Given the description of an element on the screen output the (x, y) to click on. 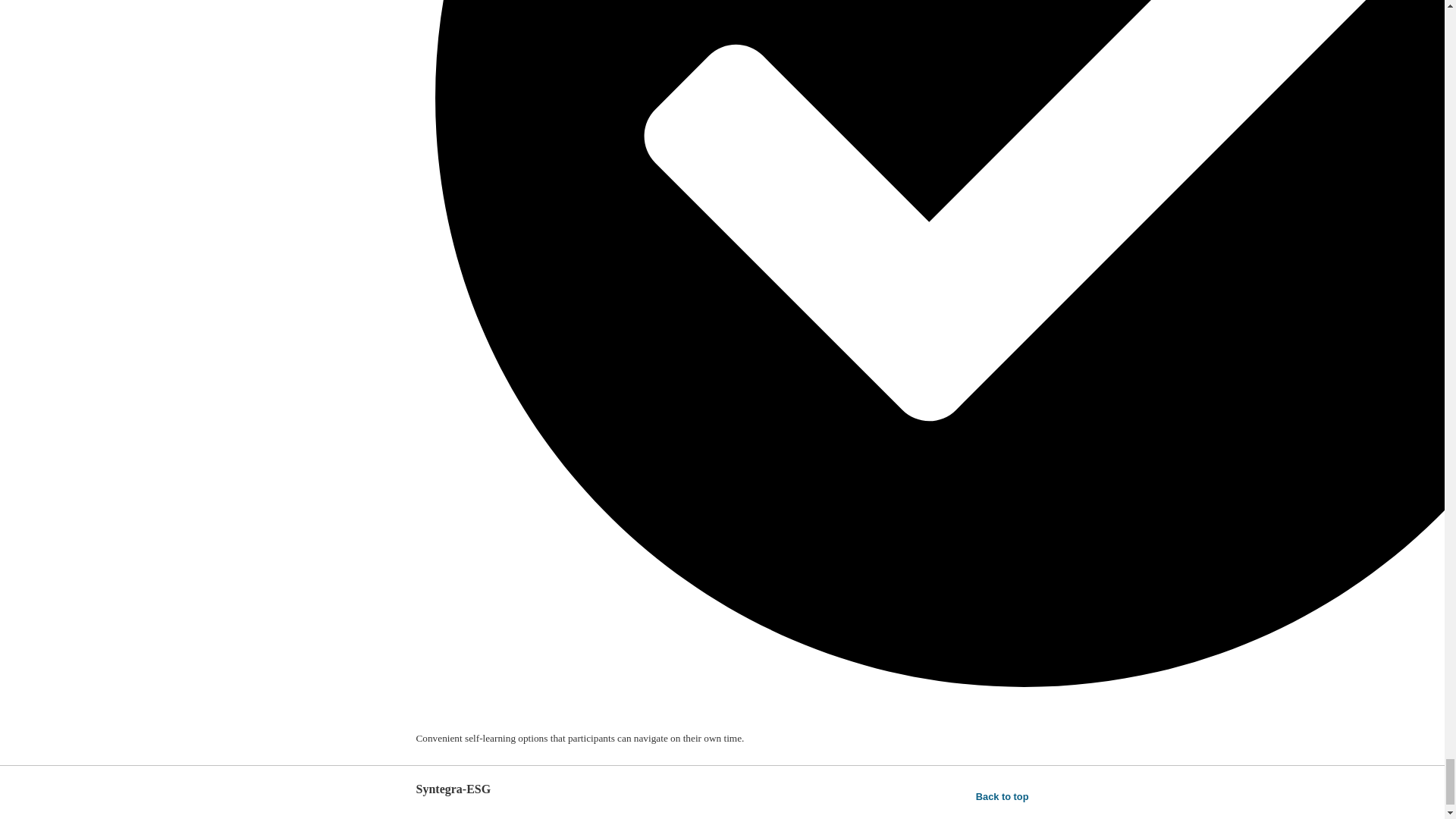
Back to top (1002, 796)
